Given the description of an element on the screen output the (x, y) to click on. 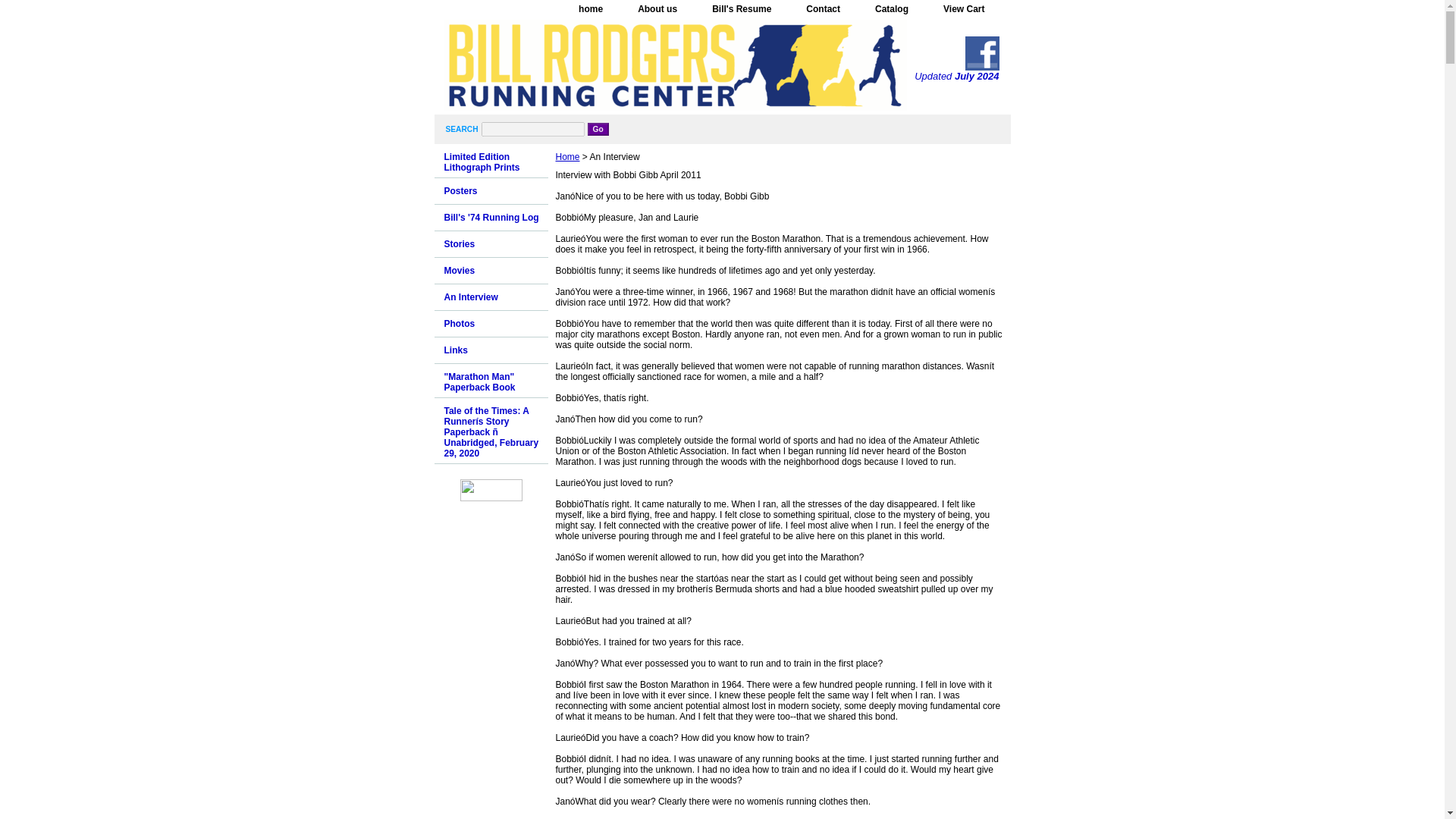
Limited Edition Lithograph Prints (490, 161)
Photos (490, 324)
Go (598, 128)
"Marathon Man" Paperback Book (490, 380)
"Marathon Man" Paperback Book (490, 380)
Bill's '74 Running Log (490, 217)
Contact (823, 9)
Links (490, 350)
Posters (490, 191)
Catalog (891, 9)
